Given the description of an element on the screen output the (x, y) to click on. 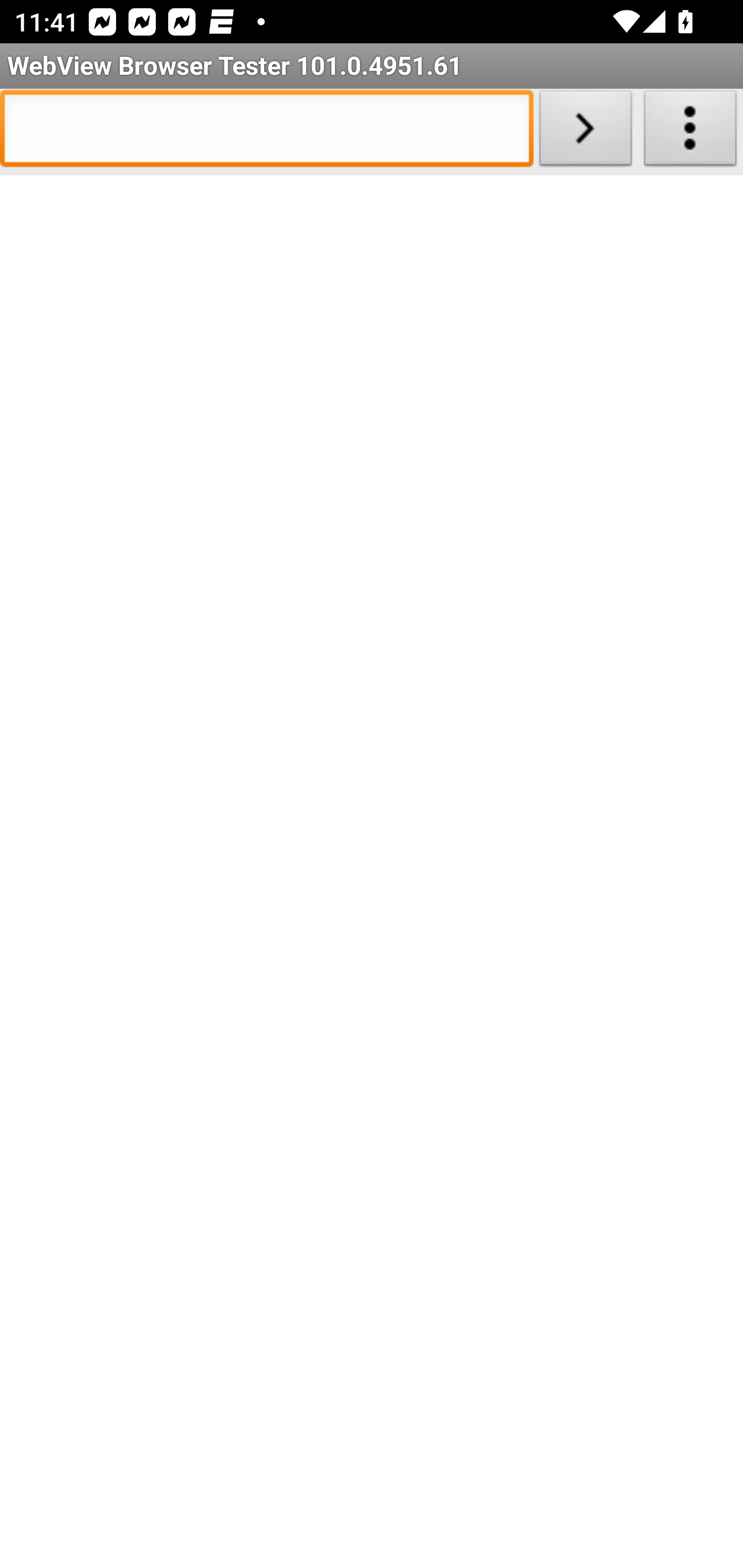
Load URL (585, 132)
About WebView (690, 132)
